Given the description of an element on the screen output the (x, y) to click on. 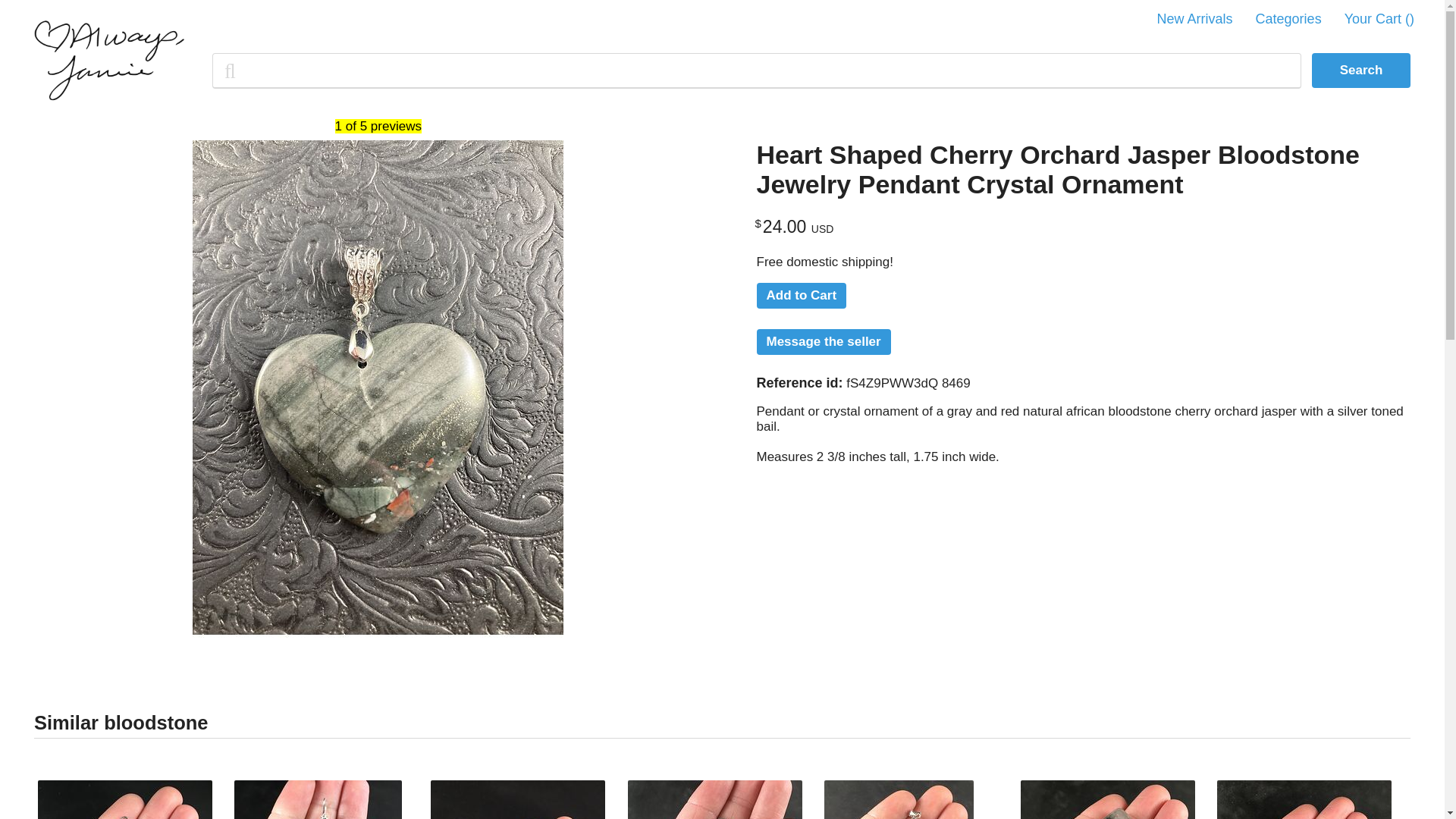
Add to Cart (802, 295)
Search (1360, 70)
Message the seller (824, 341)
